Given the description of an element on the screen output the (x, y) to click on. 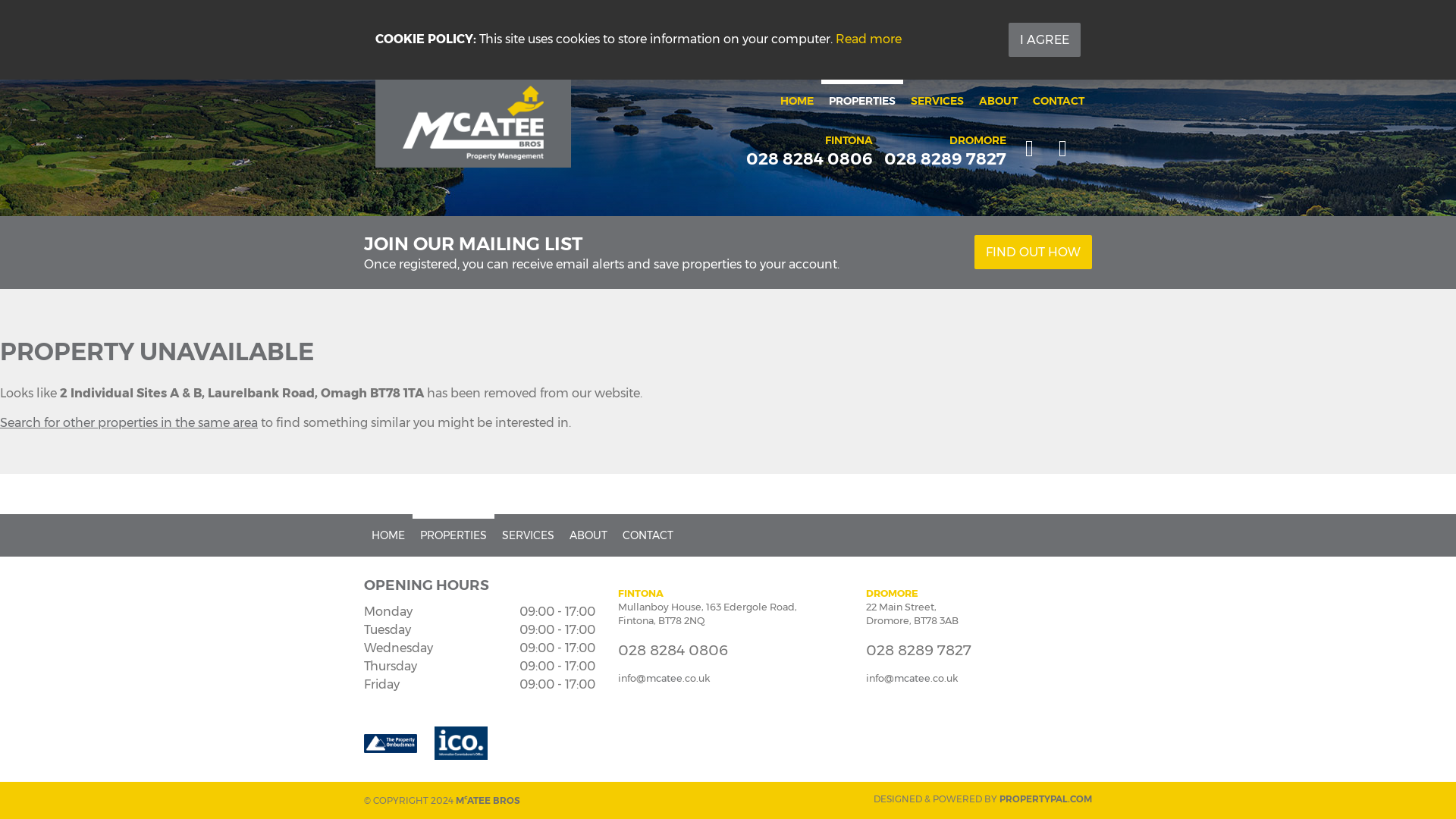
028 8289 7827 (944, 160)
PROPERTIES (861, 100)
CONTACT (1058, 100)
Read more (868, 39)
HOME (797, 100)
ABOUT (998, 100)
028 8284 0806 (808, 160)
I AGREE (1044, 39)
SERVICES (936, 100)
